Given the description of an element on the screen output the (x, y) to click on. 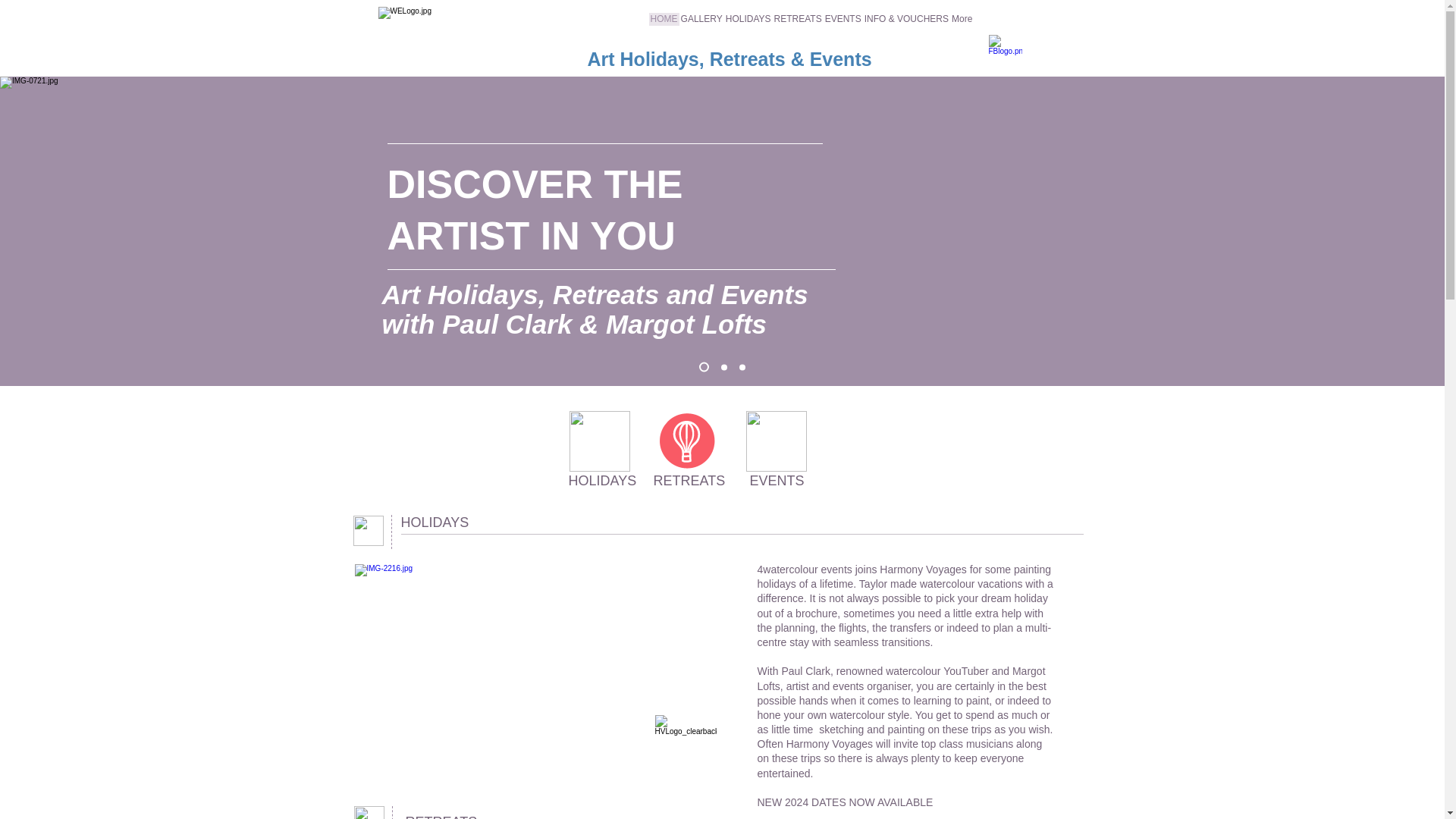
EVENTS (843, 24)
HOME (664, 24)
EVENTS (776, 481)
RETREATS (689, 481)
GALLERY (701, 24)
HOLIDAYS (748, 24)
RETREATS (440, 809)
HOLIDAYS (434, 523)
RETREATS (798, 24)
HOLIDAYS (603, 481)
